Given the description of an element on the screen output the (x, y) to click on. 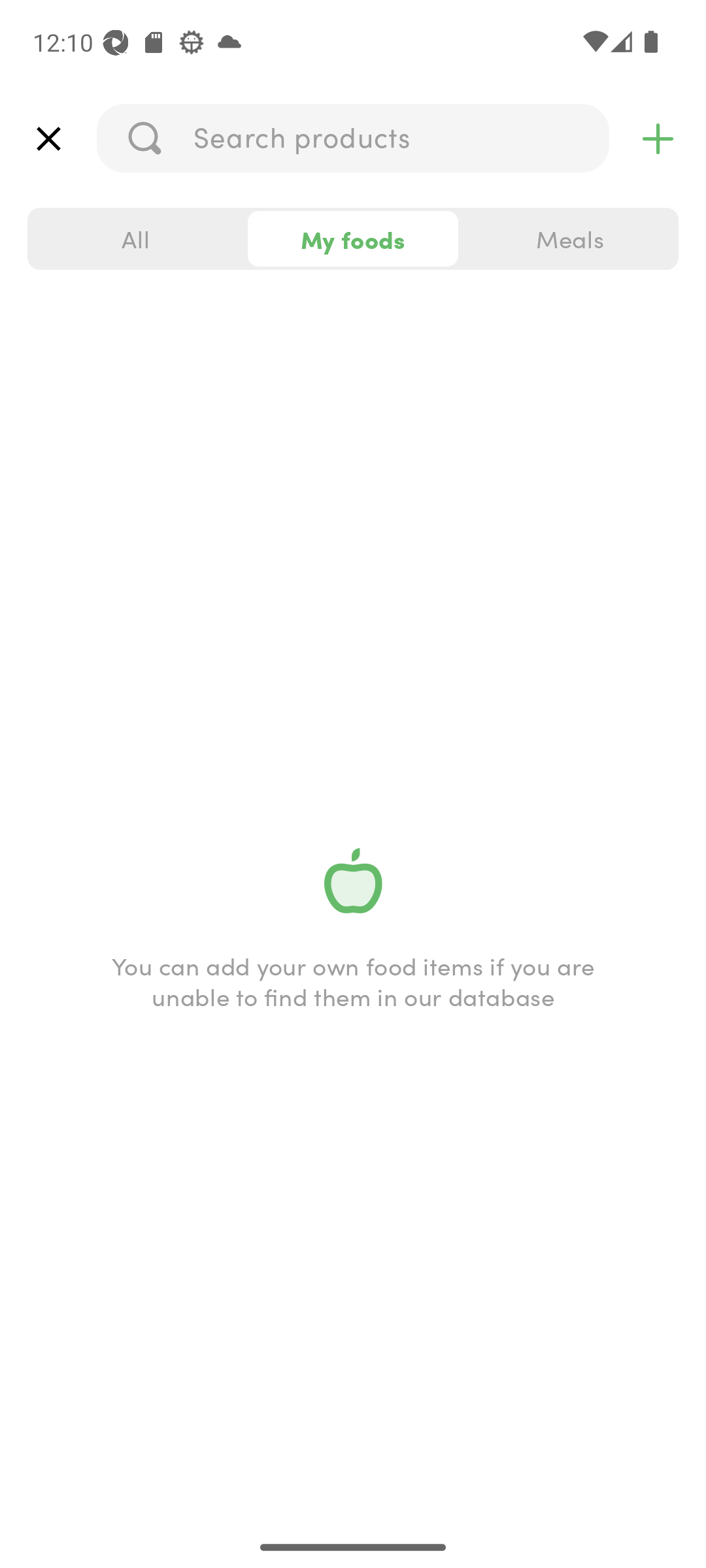
top_left_action (48, 138)
top_right_action (658, 138)
All (136, 238)
Meals (569, 238)
